Given the description of an element on the screen output the (x, y) to click on. 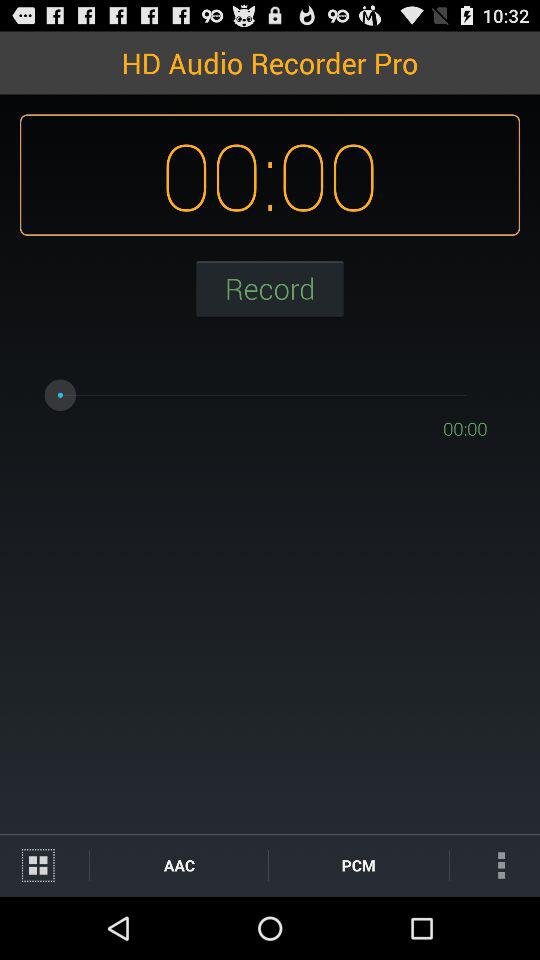
press the item to the right of the aac item (358, 864)
